Given the description of an element on the screen output the (x, y) to click on. 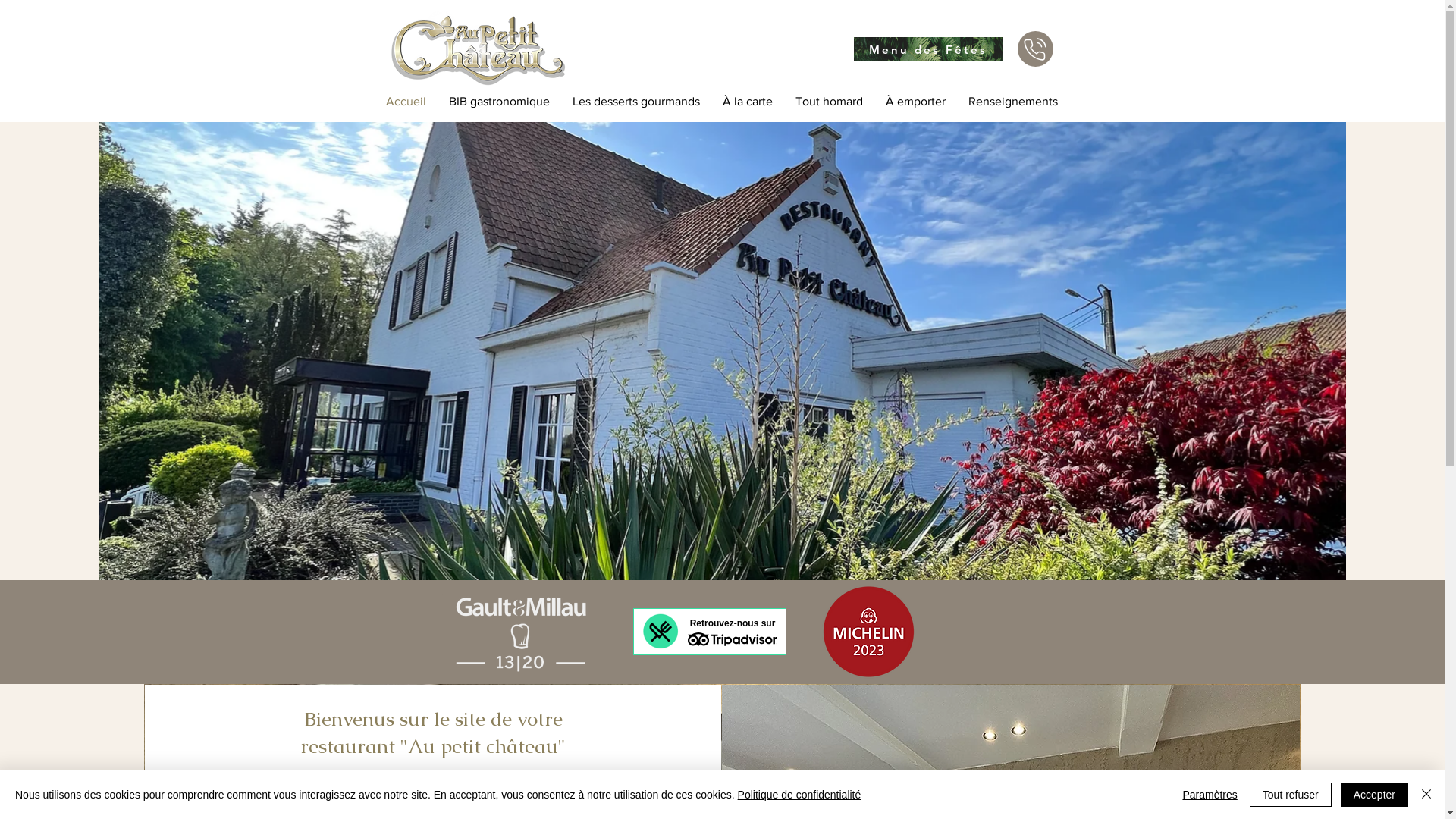
Embedded Content Element type: hover (708, 633)
Tout refuser Element type: text (1290, 794)
Renseignements Element type: text (1013, 101)
E-label2.png Element type: hover (867, 631)
Les desserts gourmands Element type: text (636, 101)
Accueil Element type: text (405, 101)
Accepter Element type: text (1374, 794)
Tout homard Element type: text (829, 101)
BIB gastronomique Element type: text (499, 101)
